Given the description of an element on the screen output the (x, y) to click on. 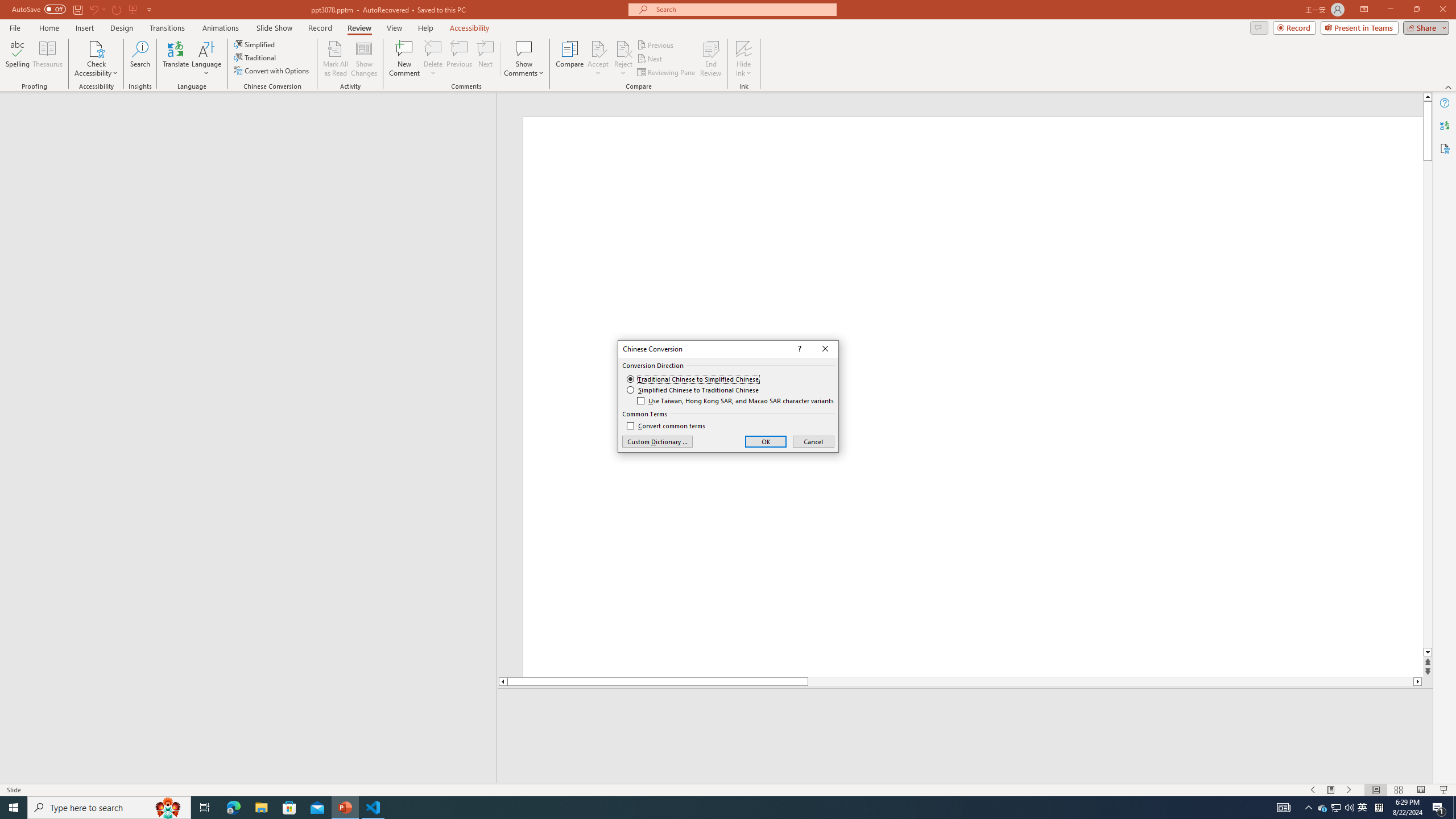
Simplified (254, 44)
Mark All as Read (335, 58)
